Given the description of an element on the screen output the (x, y) to click on. 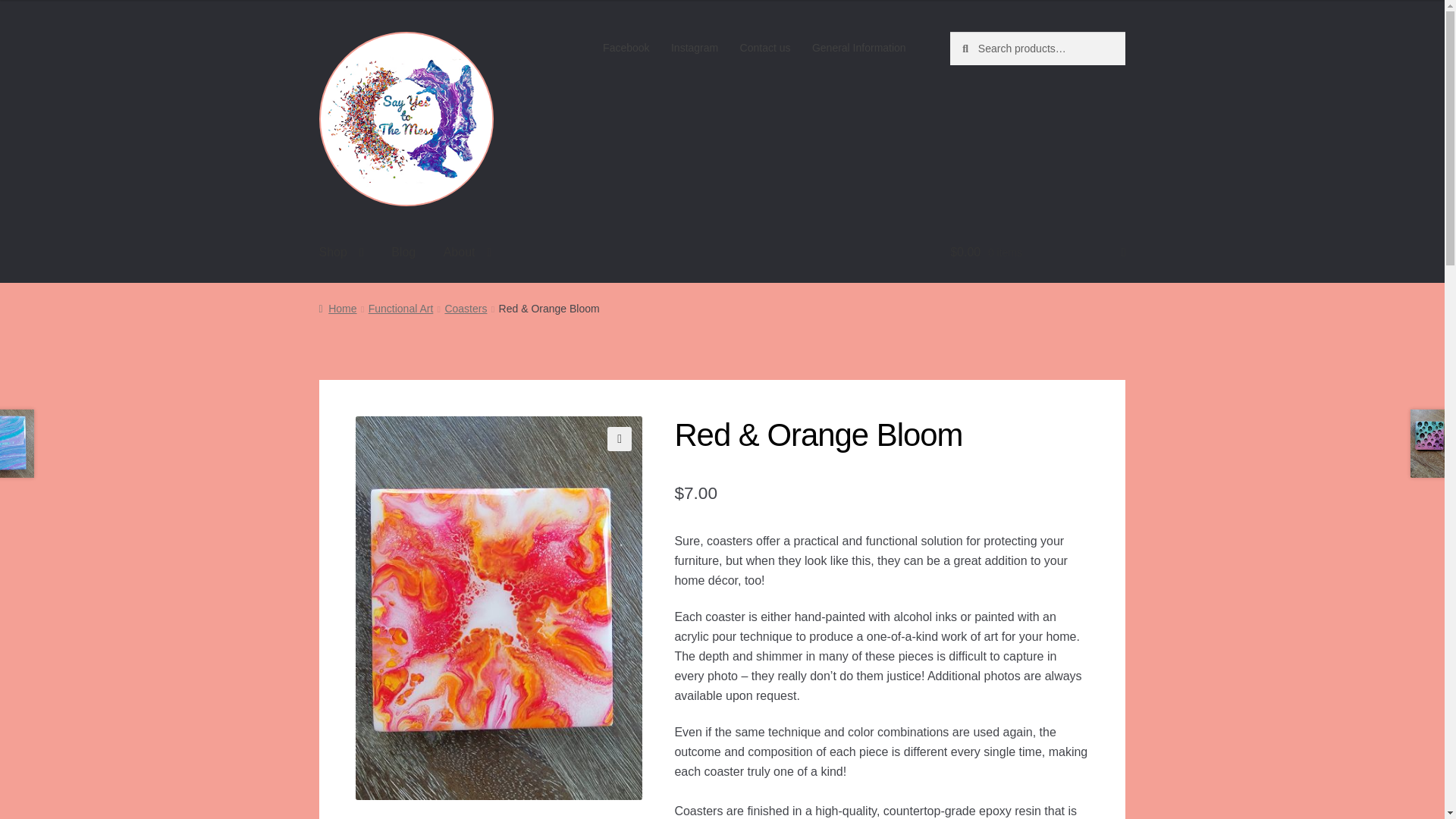
General Information (859, 47)
Facebook (626, 47)
Contact us (764, 47)
About (466, 252)
Shop (341, 252)
Instagram (695, 47)
View your shopping cart (1037, 252)
